Given the description of an element on the screen output the (x, y) to click on. 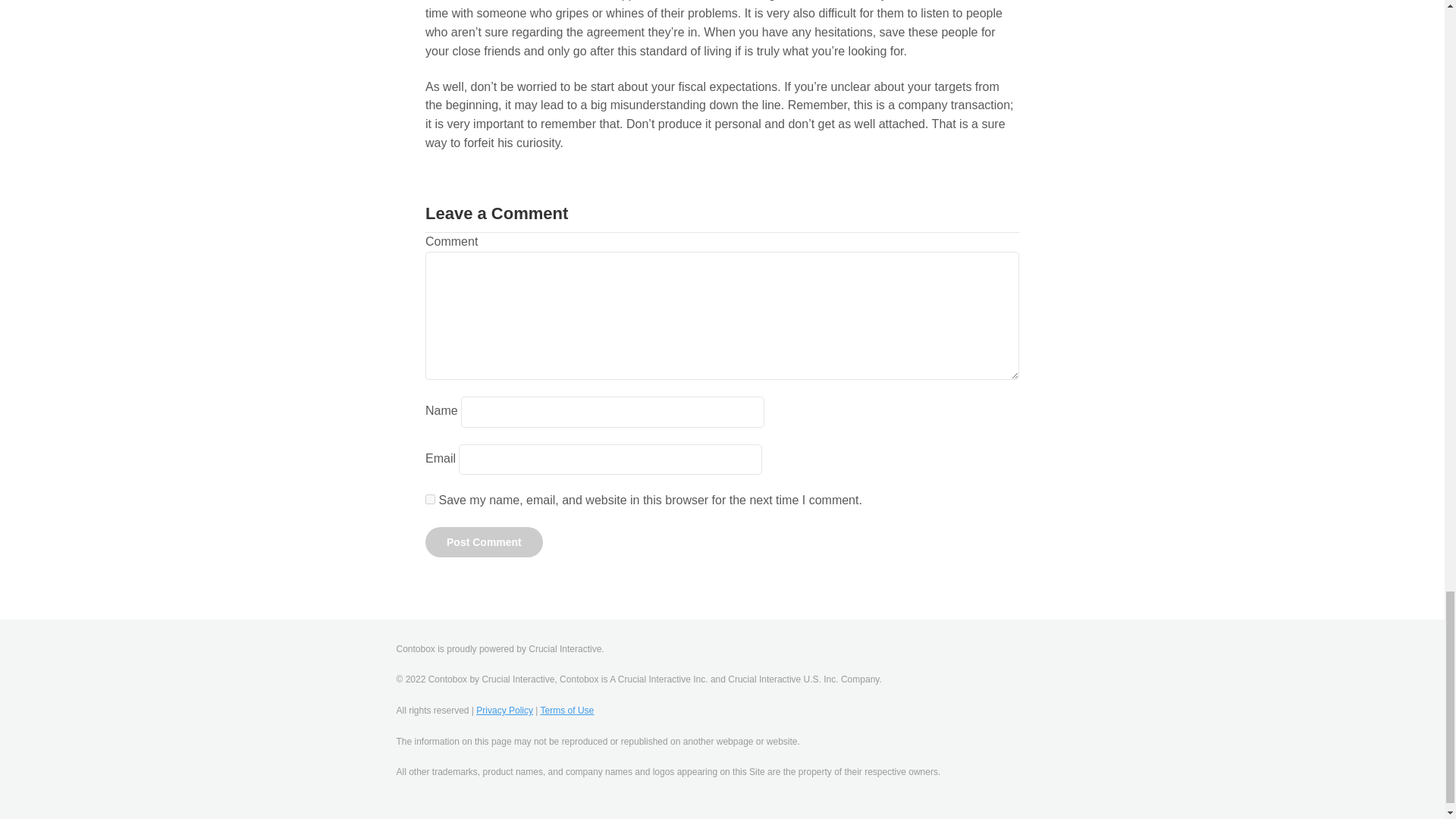
yes (430, 499)
Post Comment (484, 542)
Post Comment (484, 542)
Privacy Policy (504, 710)
Terms of Use (567, 710)
